Given the description of an element on the screen output the (x, y) to click on. 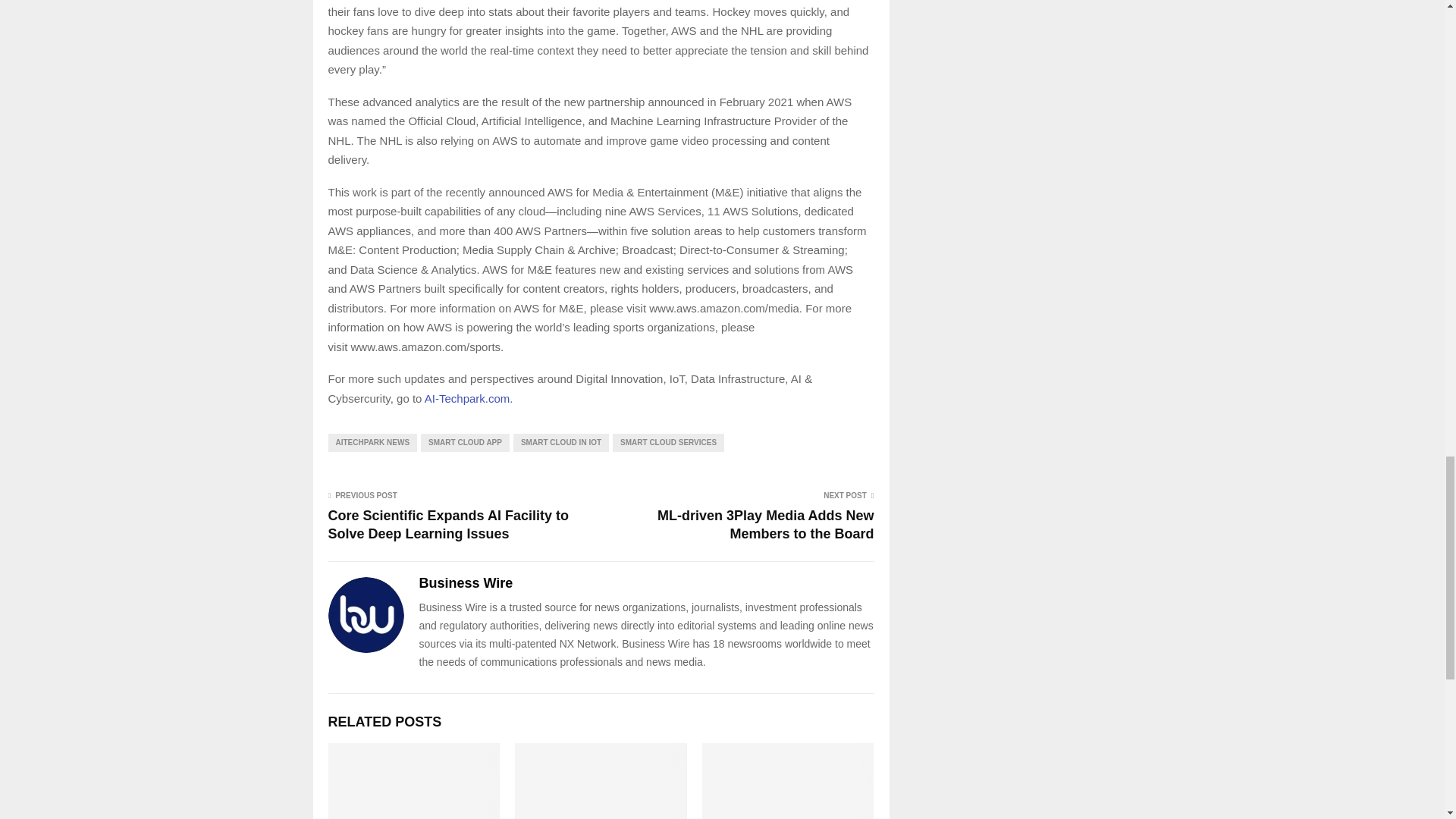
Posts by Business Wire (465, 583)
